Given the description of an element on the screen output the (x, y) to click on. 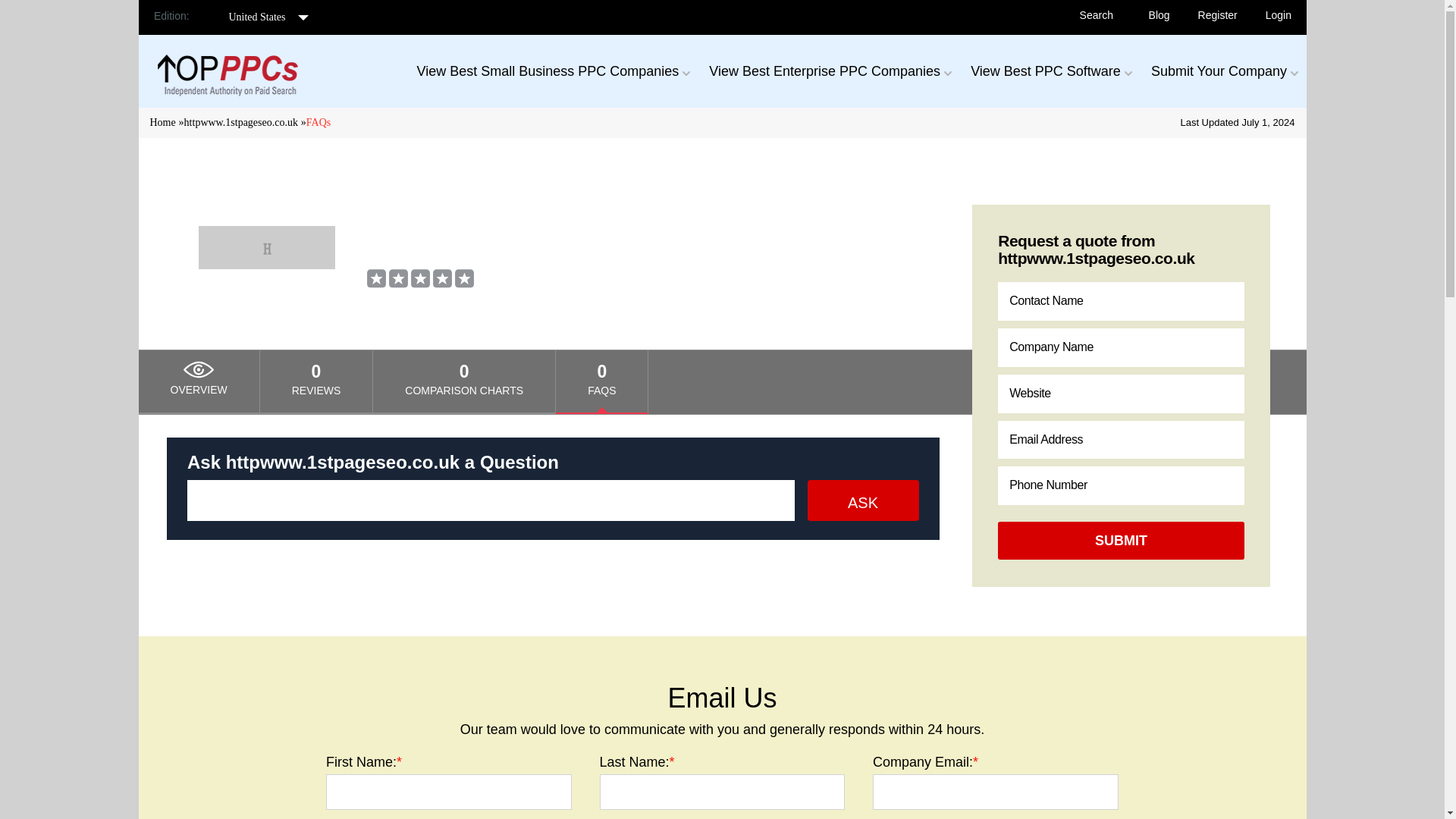
Blog (1158, 15)
View Best Small Business PPC Companies (547, 71)
Submit (1120, 540)
Login (1277, 15)
United States (261, 17)
Register (1216, 15)
ASK (862, 499)
